Given the description of an element on the screen output the (x, y) to click on. 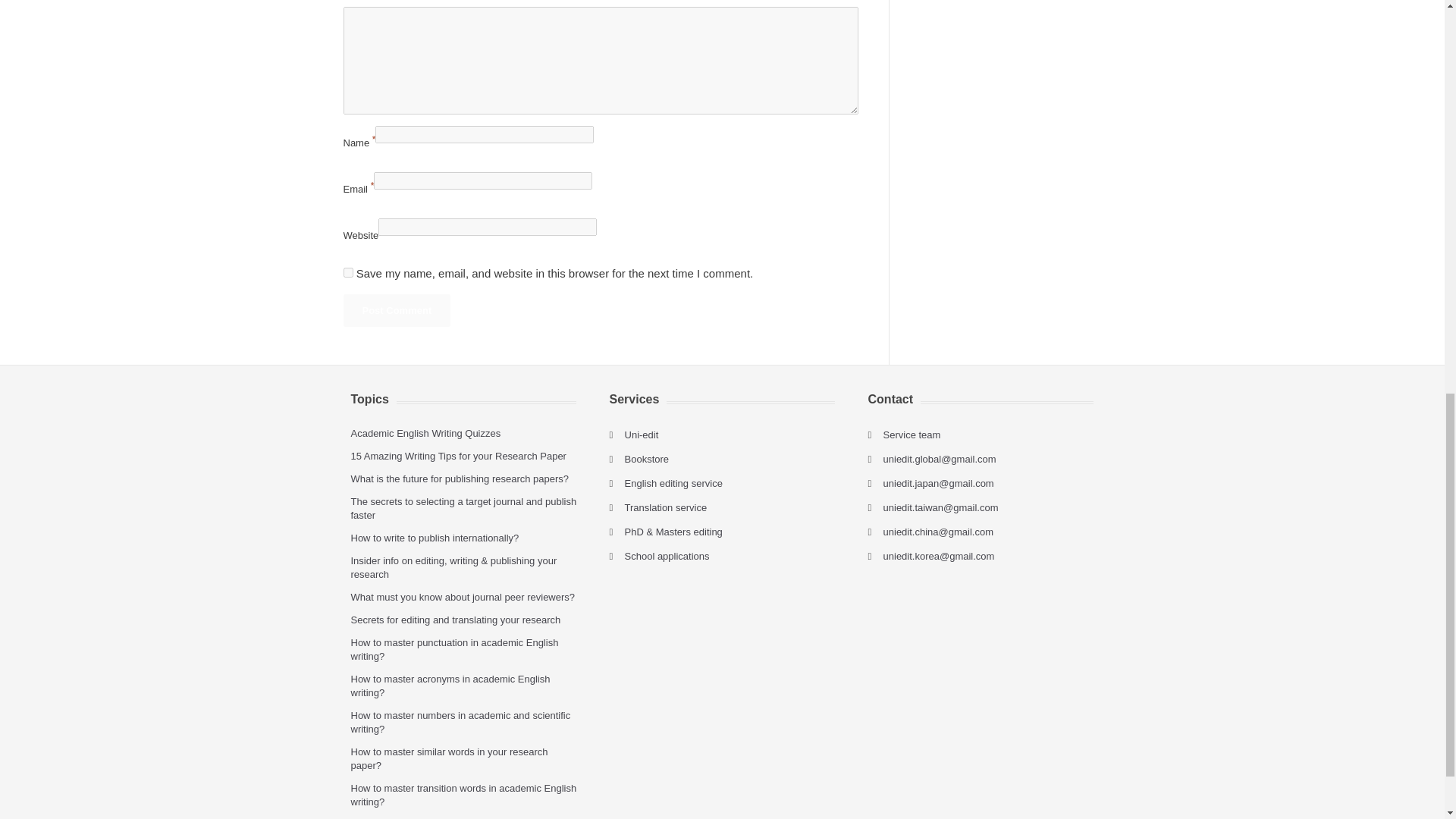
How to write to publish internationally? (434, 537)
How to master acronyms in academic English writing? (450, 685)
School applications (667, 555)
Uni-edit (641, 434)
What is the future for publishing research papers? (459, 478)
Post Comment (395, 310)
What must you know about journal peer reviewers? (462, 596)
How to master punctuation in academic English writing? (453, 649)
15 Amazing Writing Tips for your Research Paper (458, 455)
How to master numbers in academic and scientific writing? (460, 722)
Bookstore (646, 459)
Academic English Writing Quizzes (425, 432)
Service team (911, 434)
yes (347, 272)
How to master transition words in academic English writing? (463, 794)
